Given the description of an element on the screen output the (x, y) to click on. 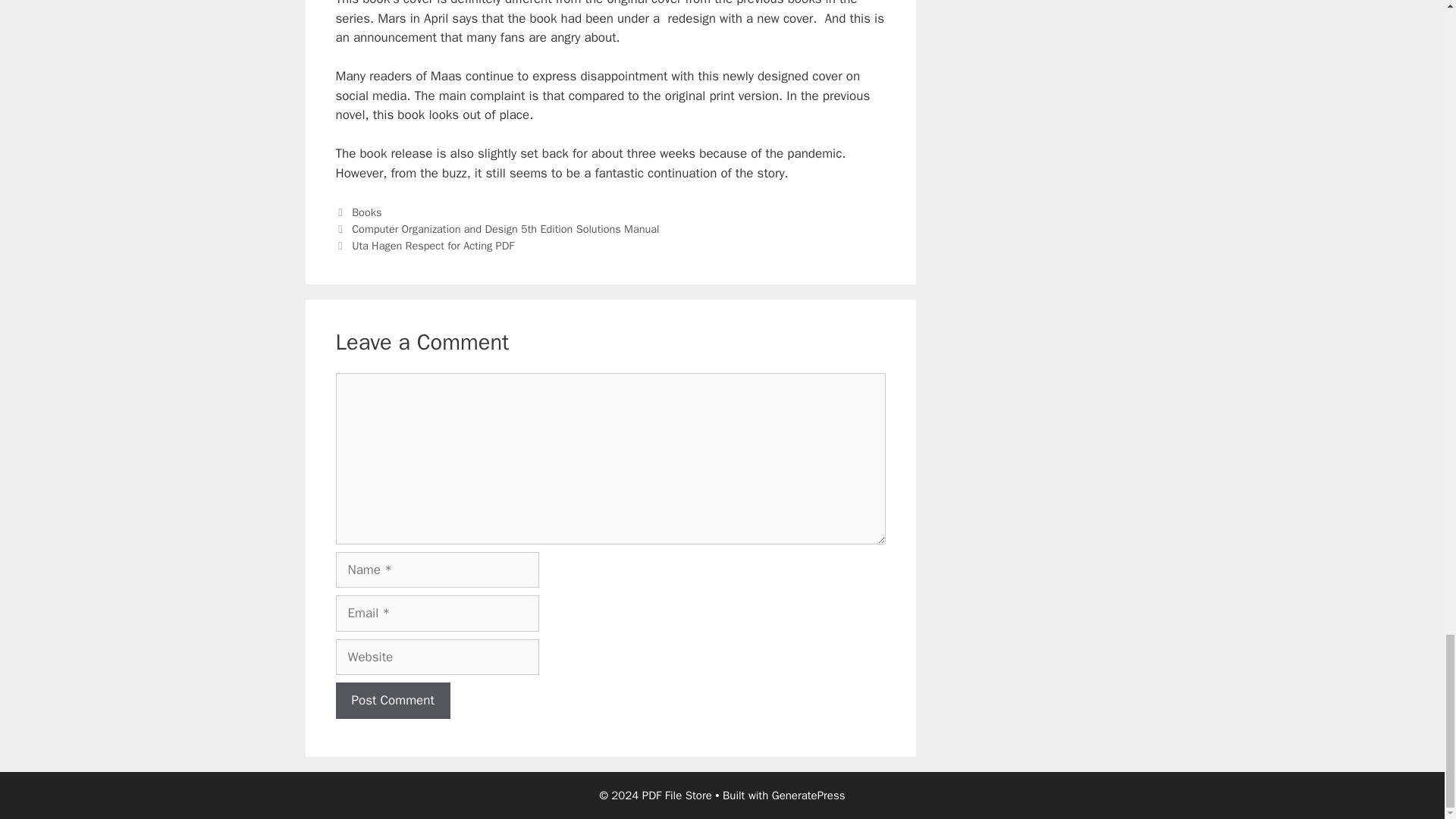
Uta Hagen Respect for Acting PDF (432, 245)
Books (366, 212)
Post Comment (391, 700)
Post Comment (391, 700)
GeneratePress (808, 795)
